Given the description of an element on the screen output the (x, y) to click on. 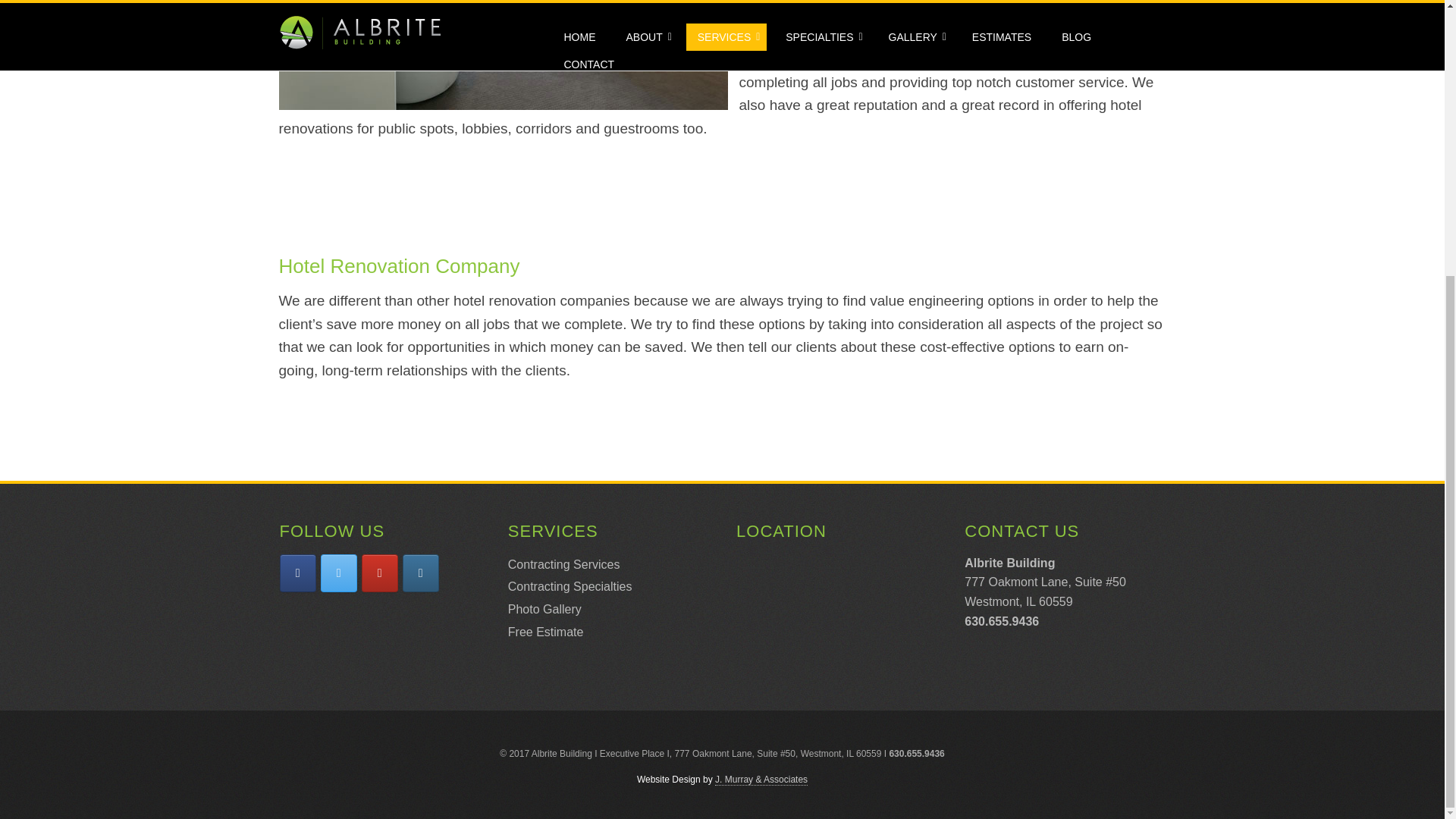
Contracting Specialties (569, 585)
Free Estimate (545, 631)
Contracting Services (564, 563)
Photo Gallery (544, 608)
